Given the description of an element on the screen output the (x, y) to click on. 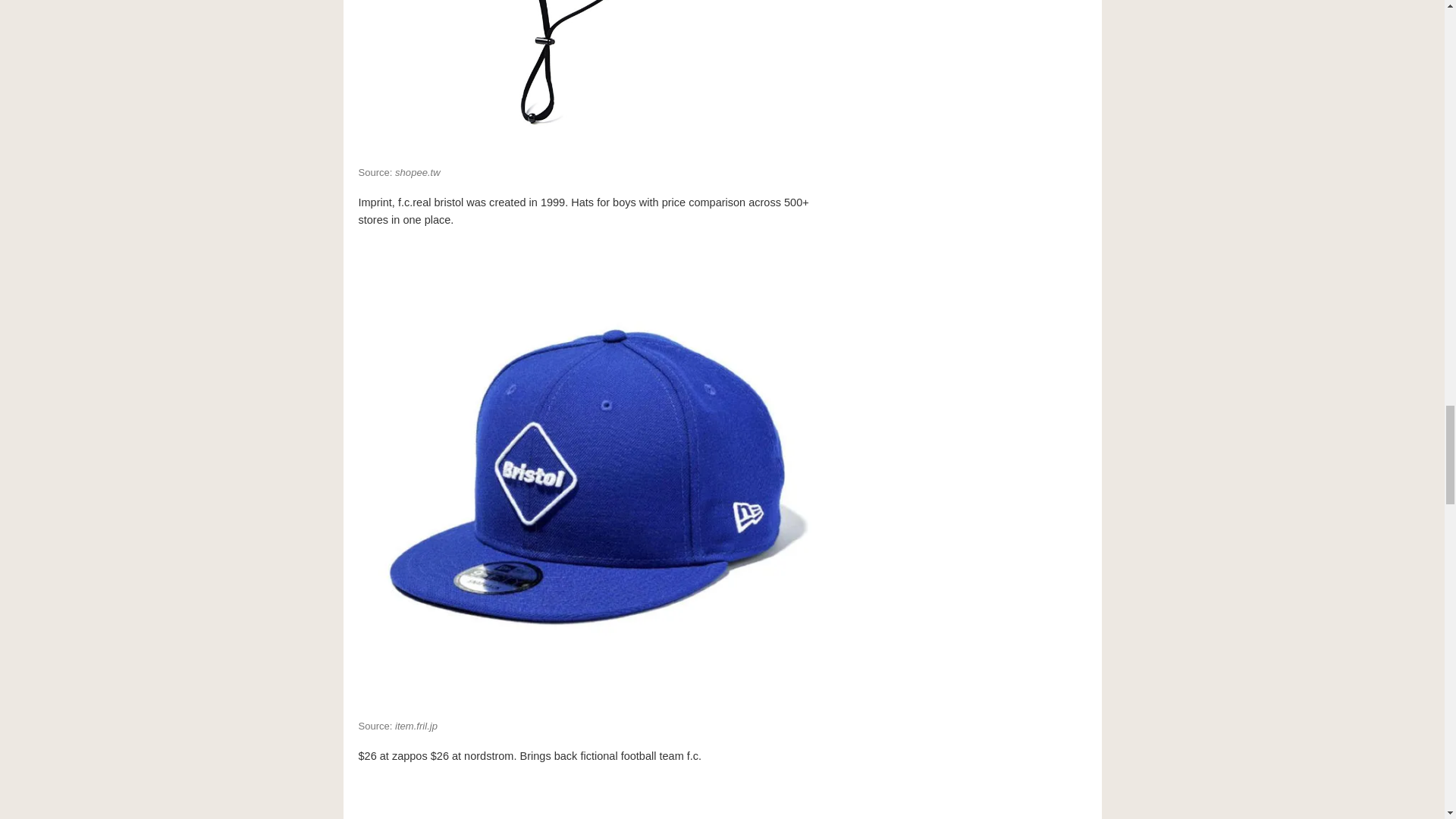
Incredible Fcrb Hats Ideas 8 (590, 797)
Incredible Fcrb Hats Ideas 6 (590, 75)
